Given the description of an element on the screen output the (x, y) to click on. 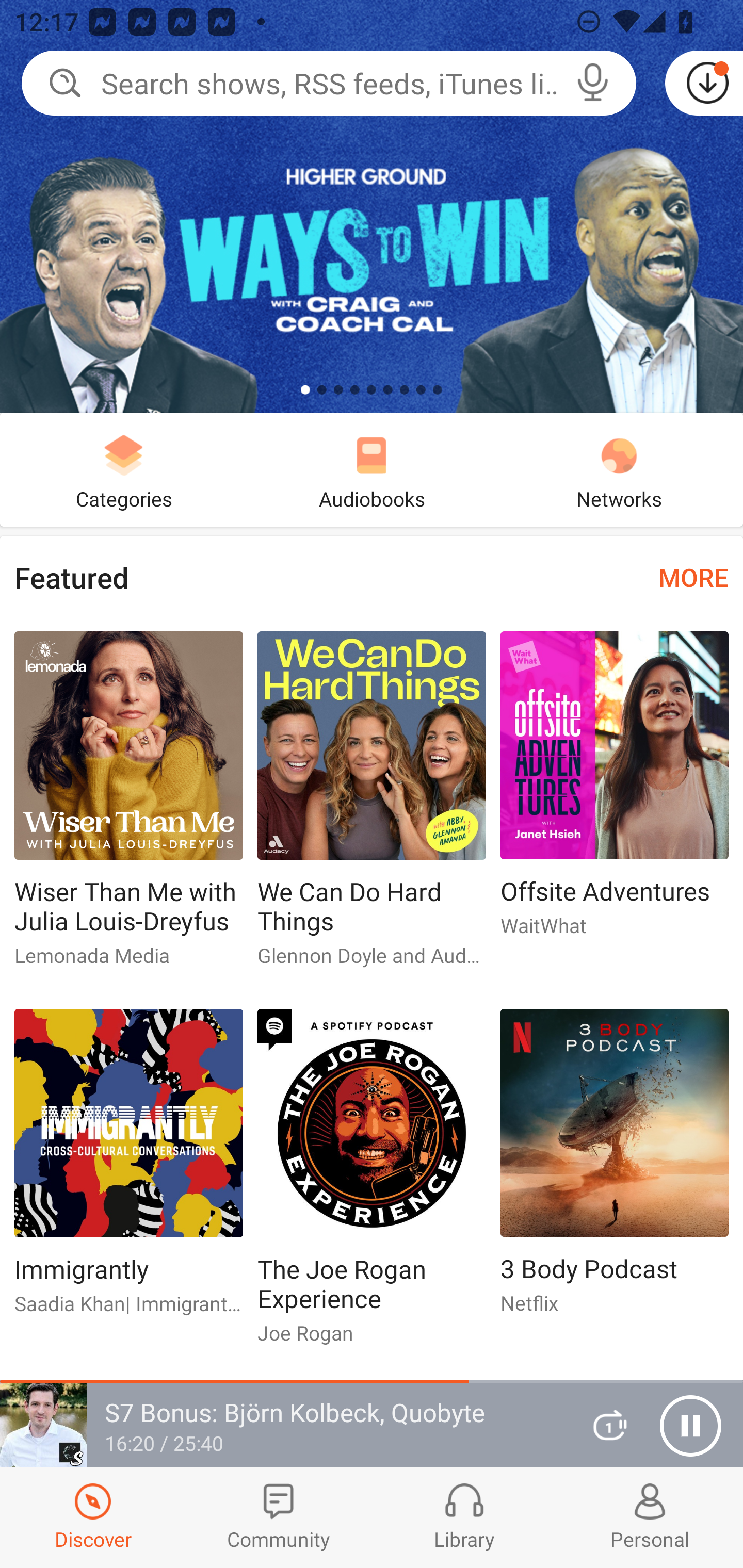
Ways To Win (371, 206)
Categories (123, 469)
Audiobooks (371, 469)
Networks (619, 469)
MORE (693, 576)
Offsite Adventures Offsite Adventures WaitWhat (614, 792)
3 Body Podcast 3 Body Podcast Netflix (614, 1169)
S7 Bonus: Björn Kolbeck, Quobyte 16:20 / 25:40 (283, 1424)
Pause (690, 1425)
Discover (92, 1517)
Community (278, 1517)
Library (464, 1517)
Profiles and Settings Personal (650, 1517)
